Given the description of an element on the screen output the (x, y) to click on. 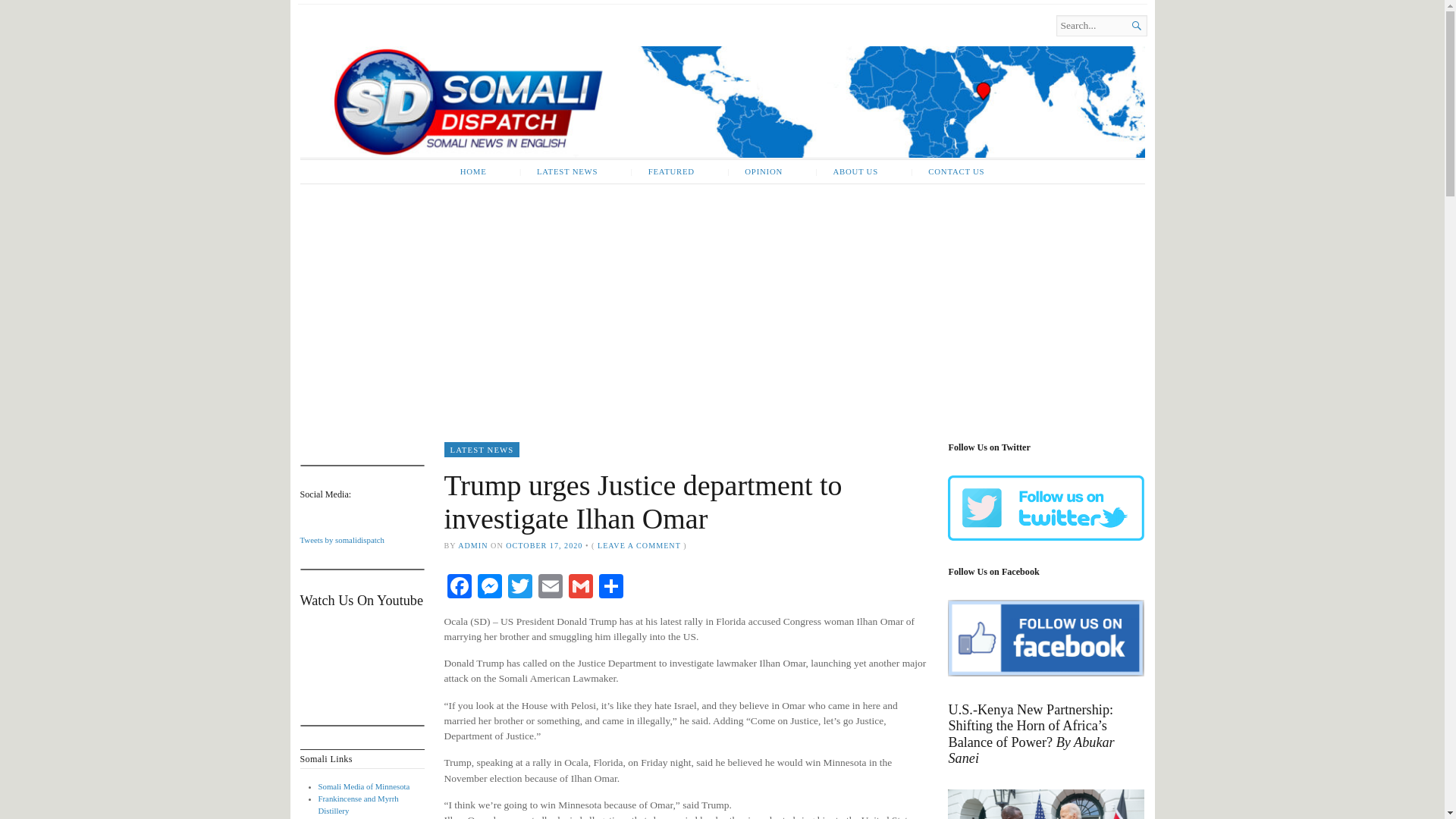
Somali Dispatch (463, 44)
CONTACT US (946, 171)
OPINION (754, 171)
LATEST NEWS (481, 449)
ADMIN (472, 545)
Hiiraan Online (342, 818)
7:02 am (543, 545)
ABOUT US (845, 171)
HOME (473, 171)
OCTOBER 17, 2020 (543, 545)
Messenger (489, 587)
Frankincense and Myrrh Distillery (358, 803)
Facebook (459, 587)
Somali Dispatch (721, 101)
